Given the description of an element on the screen output the (x, y) to click on. 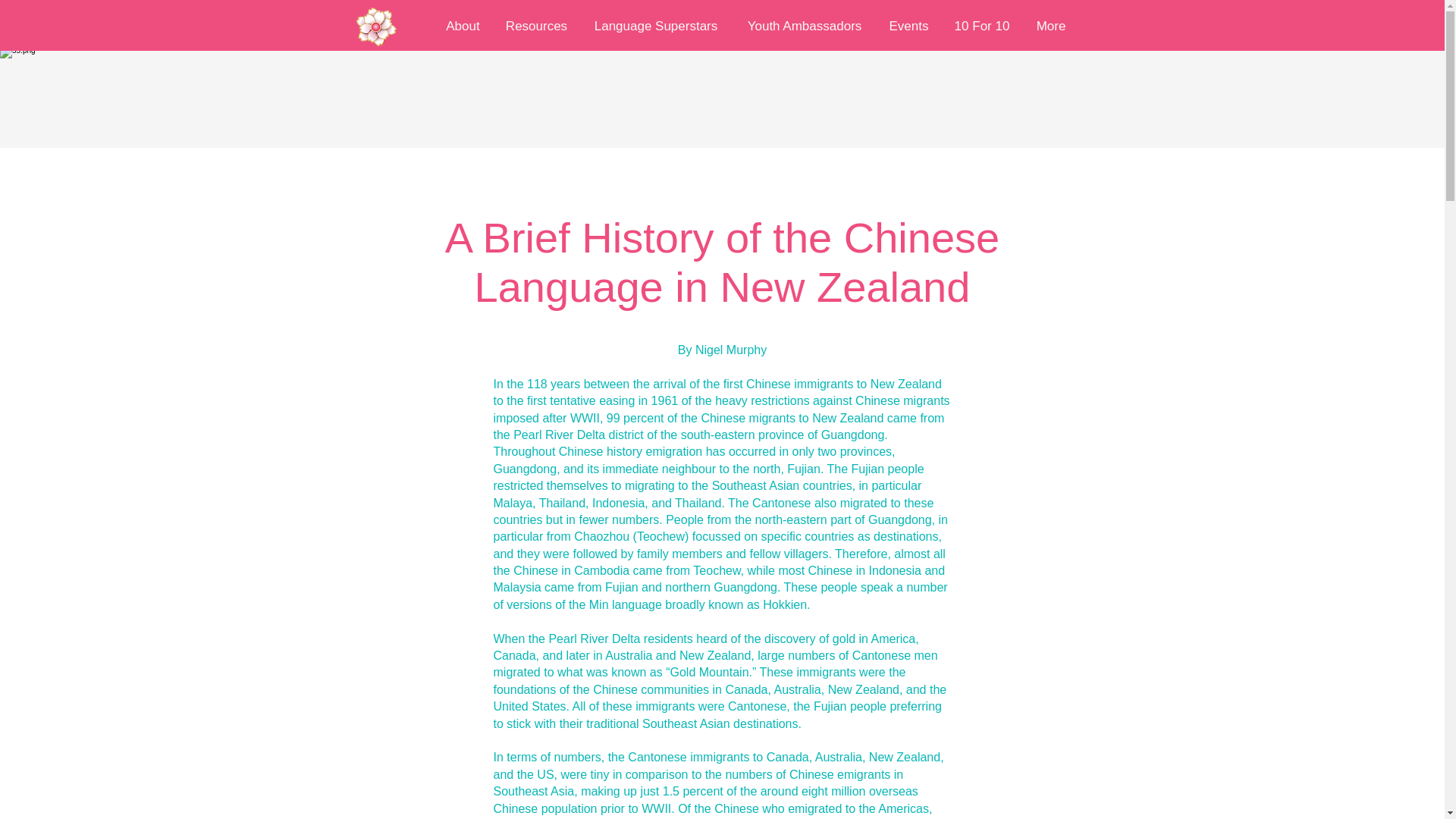
Events (908, 26)
Resources (535, 26)
Youth Ambassadors (804, 26)
Language Superstars (655, 26)
10 For 10 (981, 26)
About (462, 26)
